Given the description of an element on the screen output the (x, y) to click on. 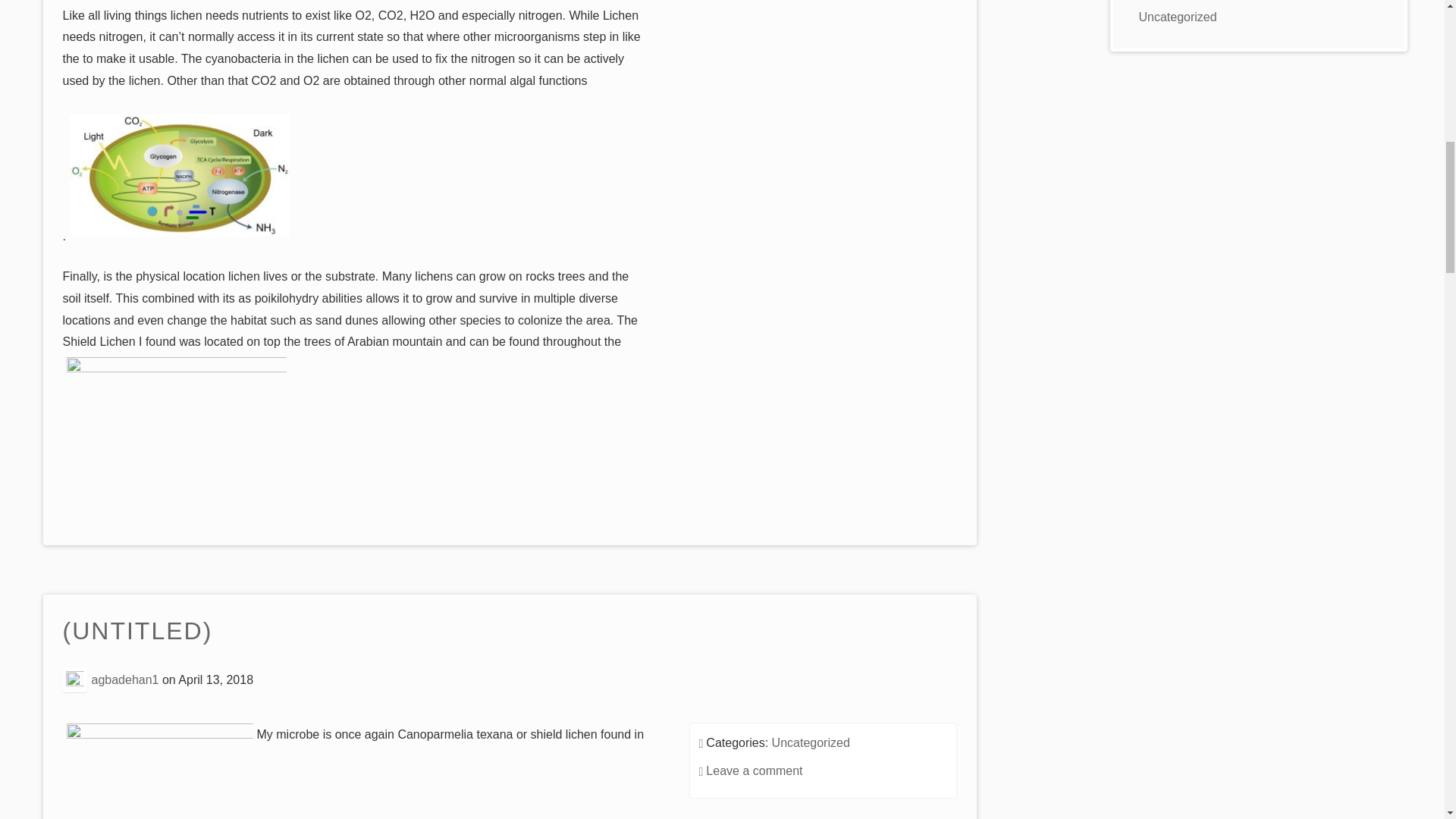
Uncategorized (810, 742)
Leave a comment (754, 770)
agbadehan1 (124, 679)
